Given the description of an element on the screen output the (x, y) to click on. 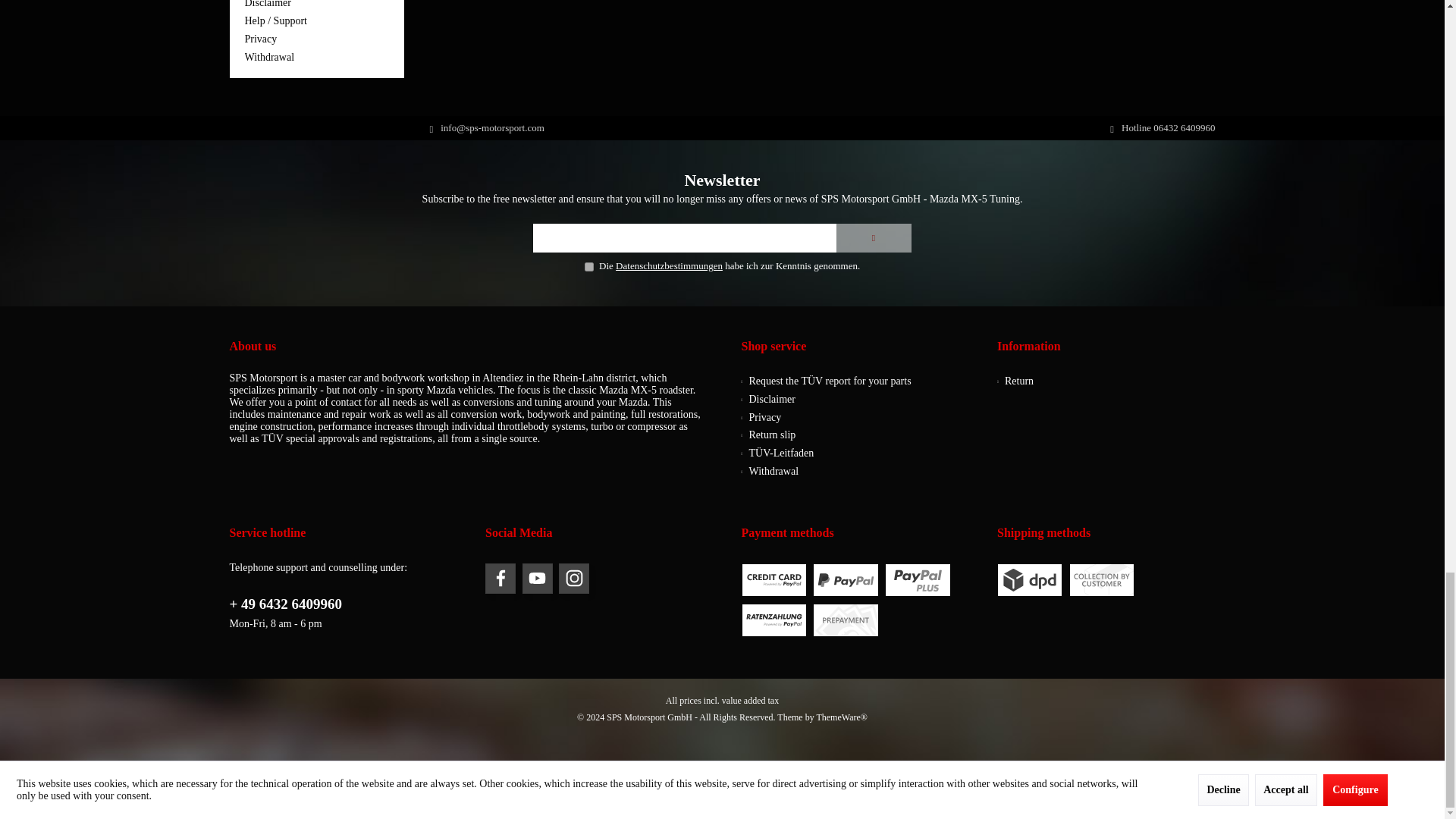
on (589, 266)
